Given the description of an element on the screen output the (x, y) to click on. 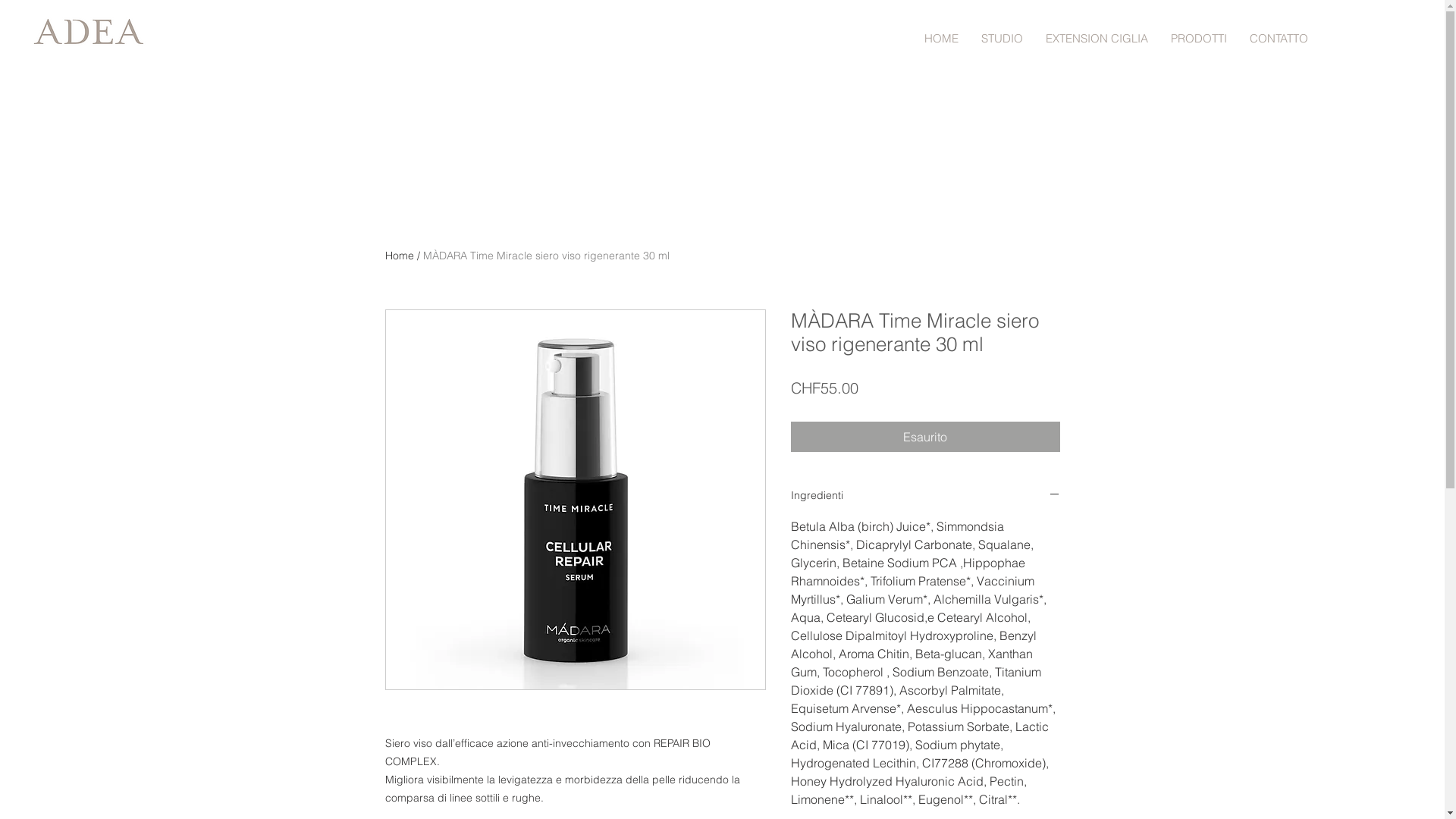
Adea Make-up Studio Element type: hover (92, 32)
PRODOTTI Element type: text (1198, 37)
EXTENSION CIGLIA Element type: text (1096, 37)
Esaurito Element type: text (924, 436)
STUDIO Element type: text (1001, 37)
HOME Element type: text (941, 37)
Ingredienti Element type: text (924, 496)
CONTATTO Element type: text (1278, 37)
Home Element type: text (399, 255)
